Given the description of an element on the screen output the (x, y) to click on. 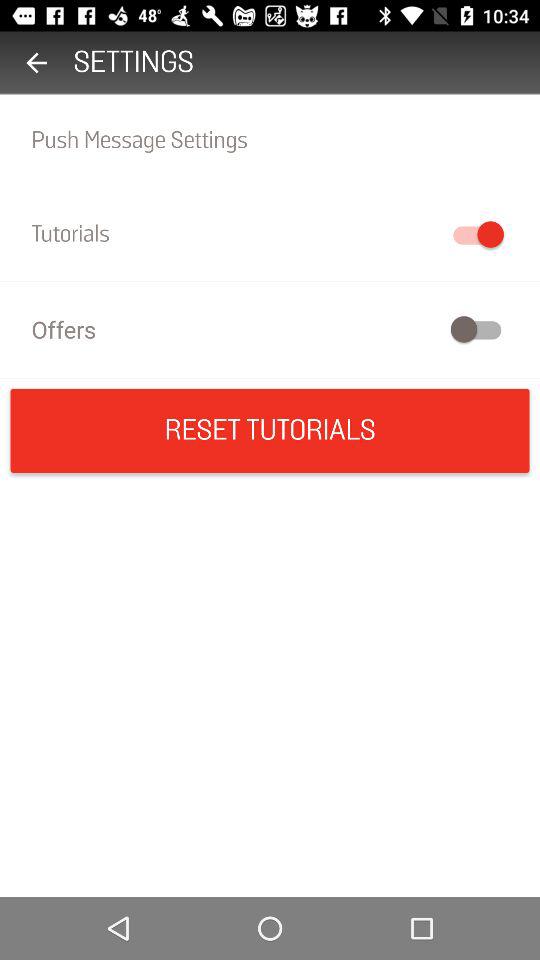
swipe until offers icon (270, 328)
